Given the description of an element on the screen output the (x, y) to click on. 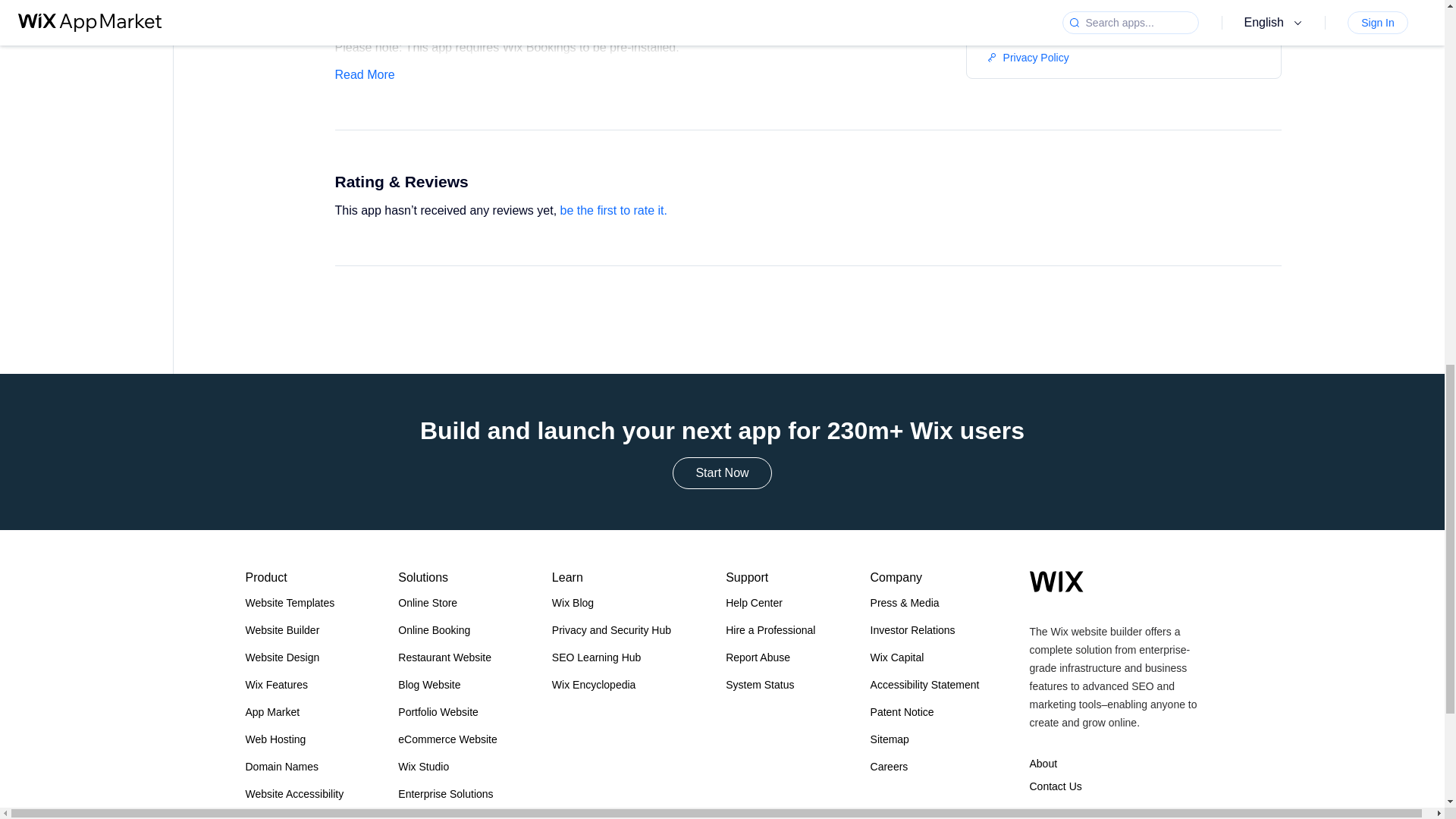
Wix.com (1056, 581)
